Given the description of an element on the screen output the (x, y) to click on. 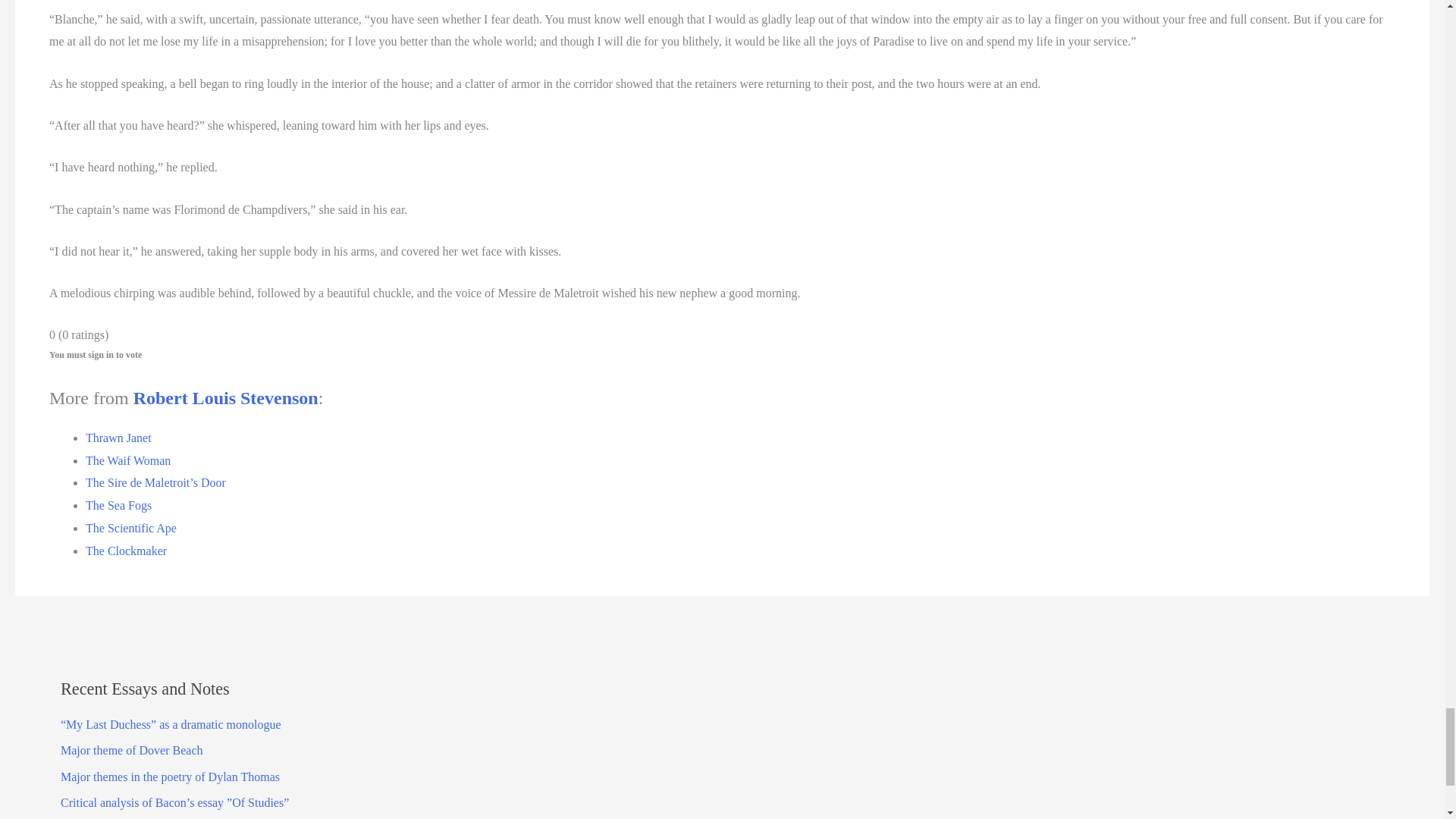
The Sea Fogs (118, 504)
The Clockmaker (126, 550)
Major theme of Dover Beach (131, 749)
The Scientific Ape (130, 527)
Robert Louis Stevenson (225, 397)
Major themes in the poetry of Dylan Thomas (170, 776)
Thrawn Janet (118, 437)
The Waif Woman (127, 460)
